Given the description of an element on the screen output the (x, y) to click on. 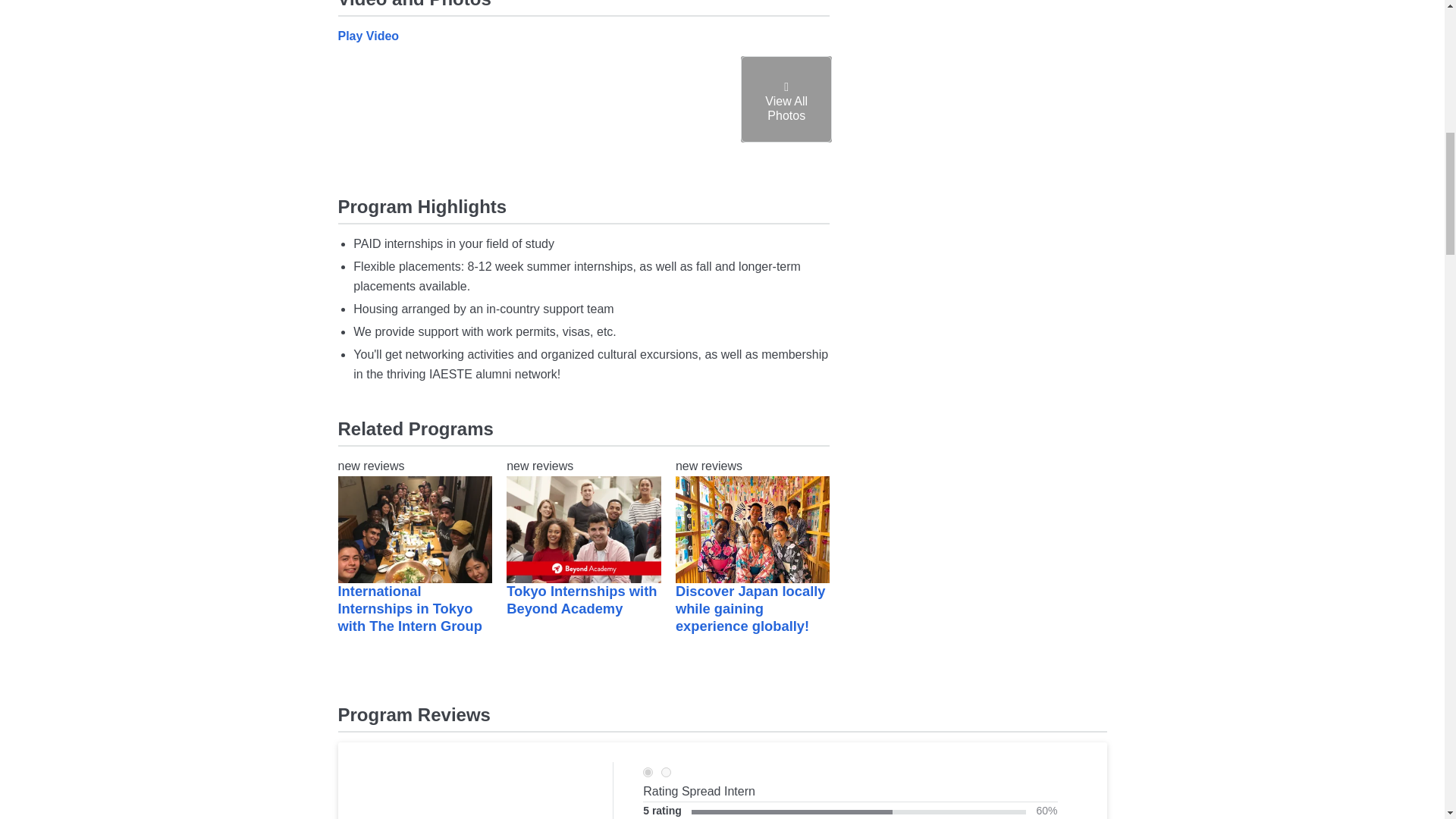
on (647, 772)
Intern abroad in more than 80 countries through IAESTE (583, 132)
Intern abroad in more than 80 countries through IAESTE (785, 99)
The Intern Group Tokyo Program (415, 529)
Intern abroad in more than 80 countries through IAESTE (685, 132)
Intern abroad in more than 80 countries through IAESTE (381, 132)
Intern abroad in more than 80 countries through IAESTE (785, 132)
Zentern - providing internships in Japan (752, 529)
on (666, 772)
Play Video (367, 35)
